Given the description of an element on the screen output the (x, y) to click on. 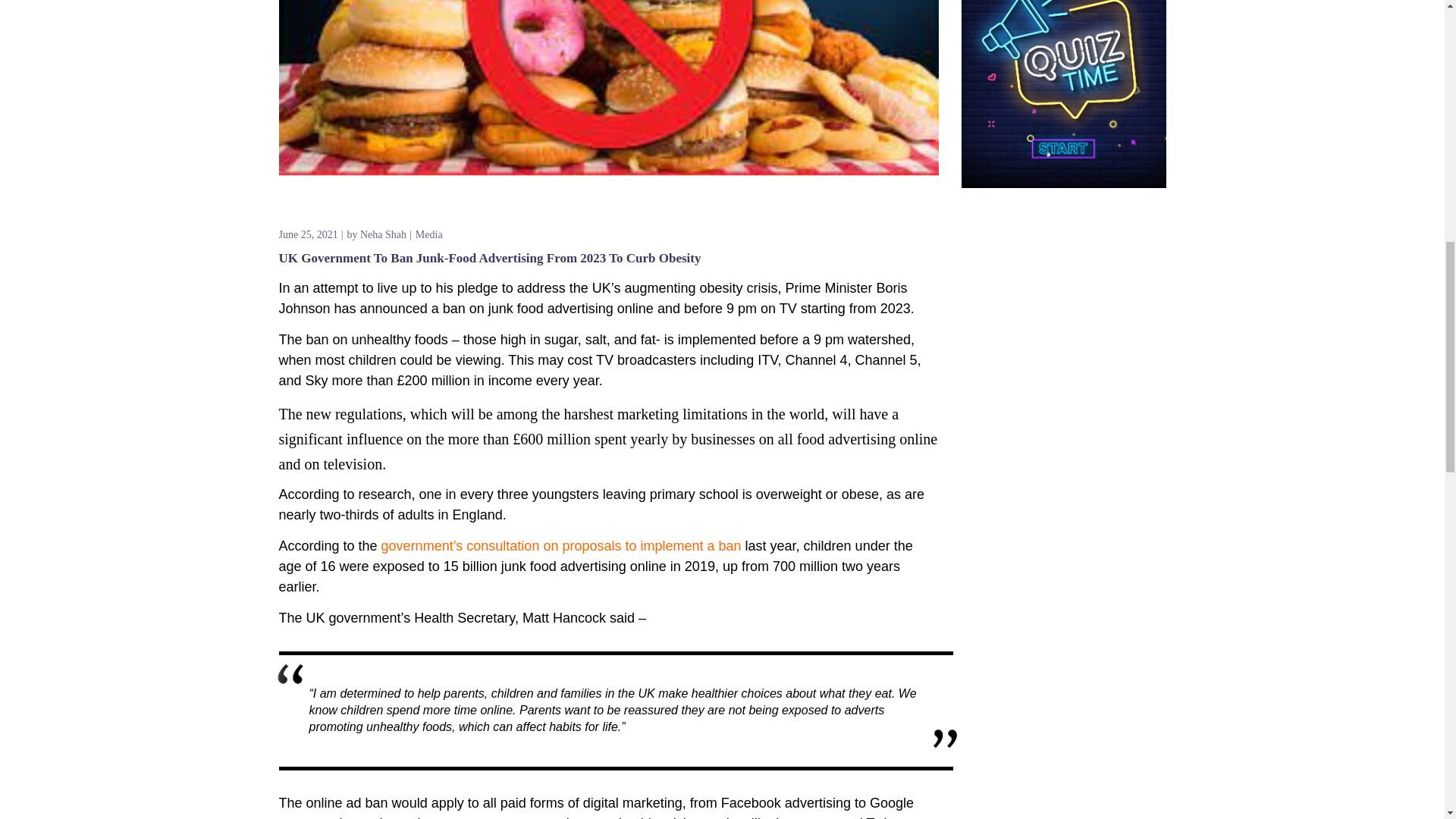
Neha Shah (382, 233)
Media (428, 233)
